Given the description of an element on the screen output the (x, y) to click on. 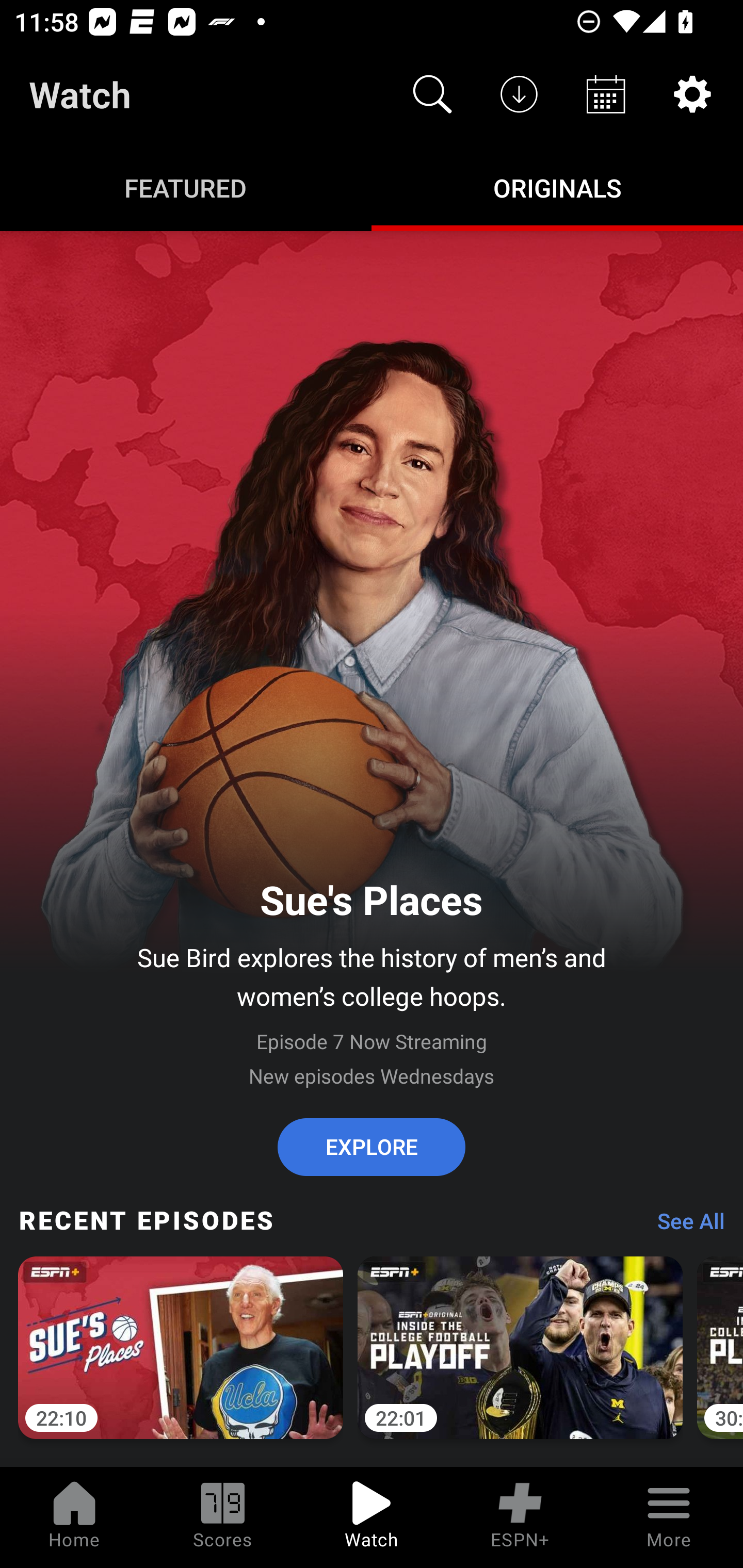
Search (432, 93)
Downloads (518, 93)
Schedule (605, 93)
Settings (692, 93)
Featured FEATURED (185, 187)
EXPLORE (371, 1146)
See All (683, 1225)
22:10 What’s All That Bracket? (Ep. 7) (180, 1358)
22:01 Nobody Better (Ep. 4) (519, 1358)
Home (74, 1517)
Scores (222, 1517)
ESPN+ (519, 1517)
More (668, 1517)
